Given the description of an element on the screen output the (x, y) to click on. 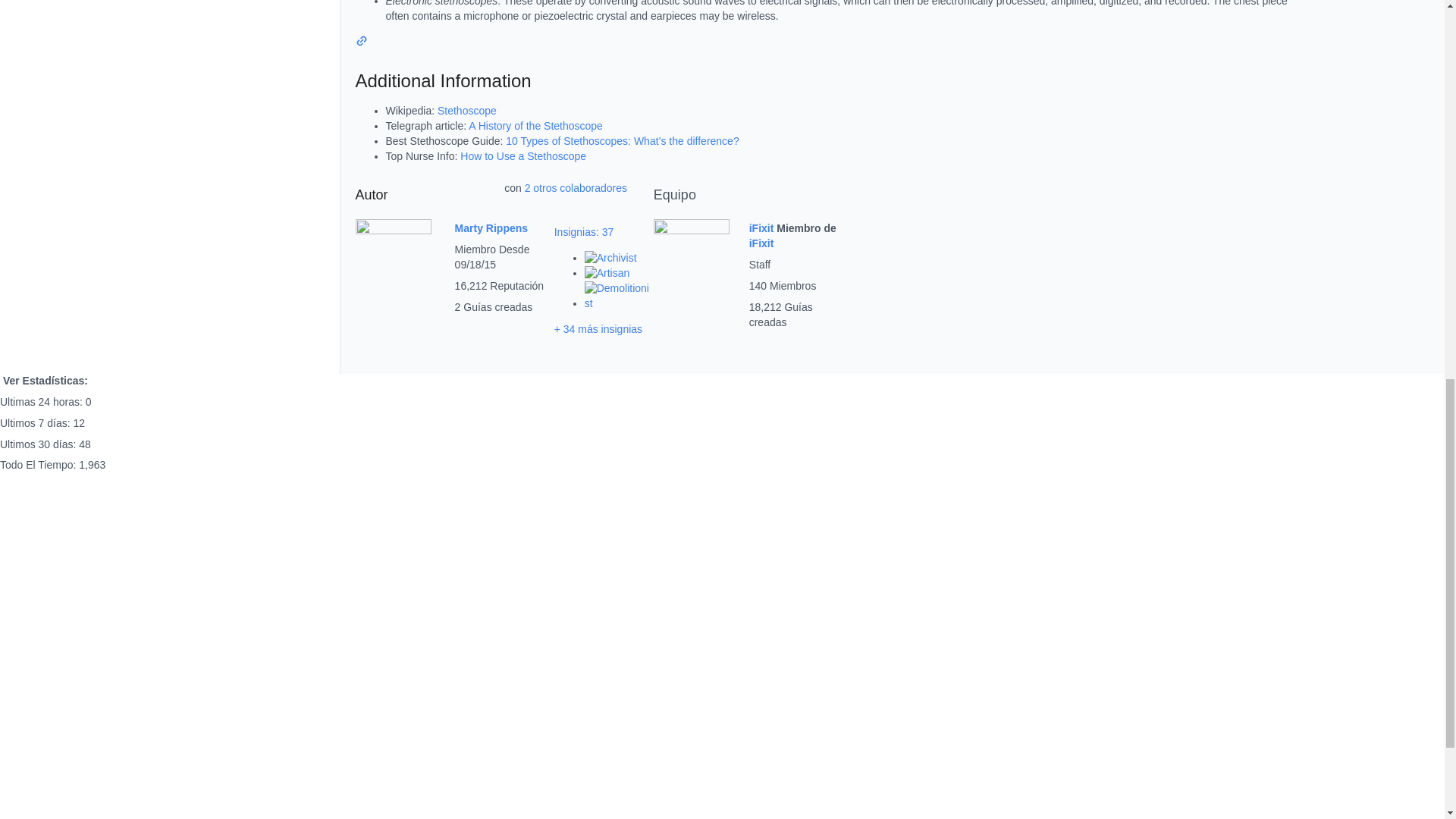
Stethoscope (467, 110)
Autor (371, 194)
Marty Rippens (490, 227)
Insignias: 37 (584, 232)
Crear un teardown destacado (619, 303)
iFixit (763, 227)
How to Use a Stethoscope (523, 155)
A History of the Stethoscope (535, 125)
iFixit (761, 243)
2 otros colaboradores (575, 187)
